Given the description of an element on the screen output the (x, y) to click on. 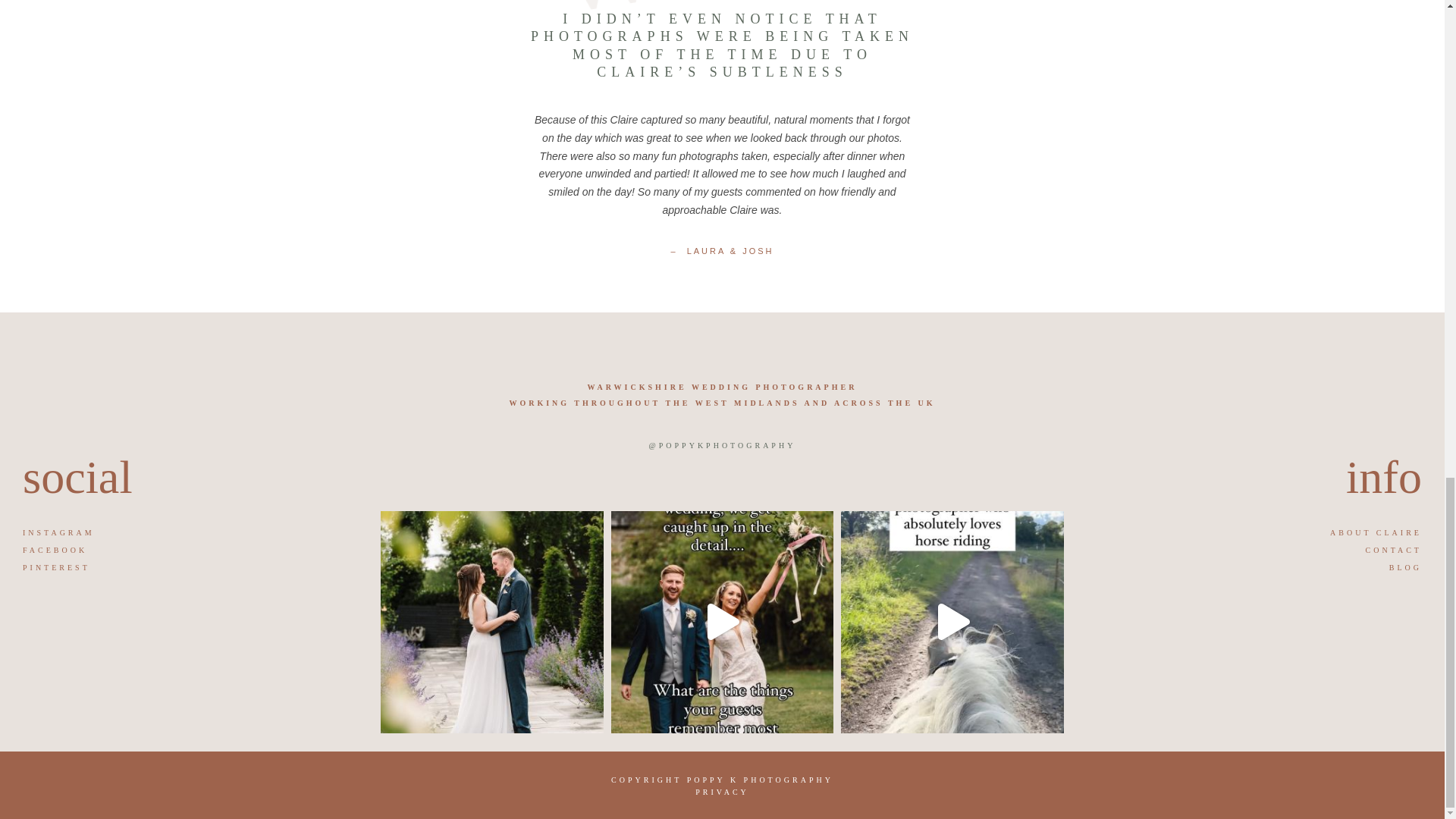
PINTEREST (56, 567)
BLOG (1405, 567)
PRIVACY (722, 791)
FACEBOOK (55, 550)
ABOUT CLAIRE (1376, 532)
INSTAGRAM (58, 532)
CONTACT (1393, 550)
